Given the description of an element on the screen output the (x, y) to click on. 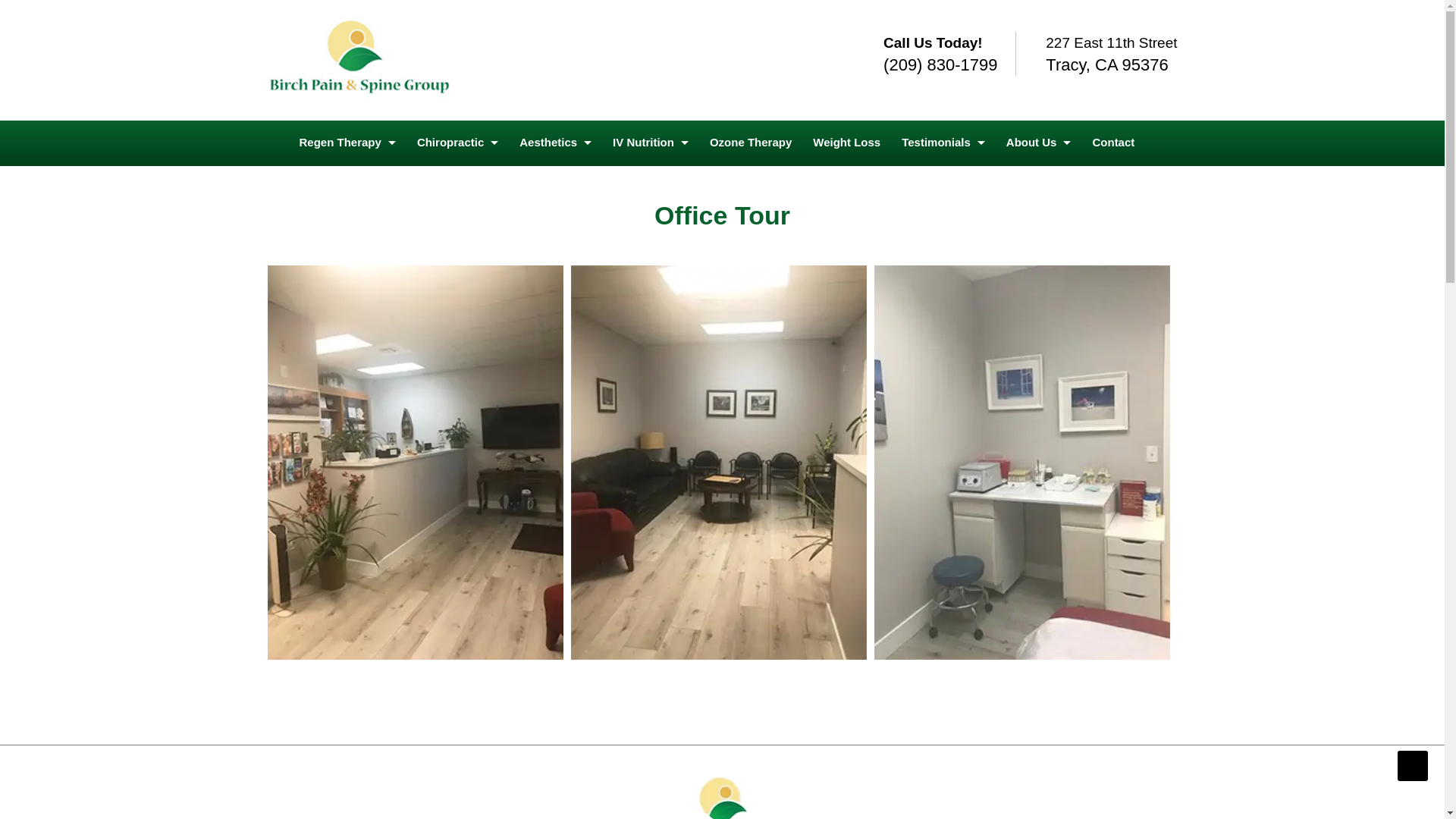
Aesthetics (555, 143)
Regen Therapy (347, 143)
Testimonials (943, 143)
IV Nutrition (650, 143)
Home (358, 60)
Contact (1112, 143)
Back to the Top (1412, 766)
Ozone Therapy (750, 143)
Weight Loss (846, 143)
Chiropractic (457, 143)
About Us (1038, 143)
